Given the description of an element on the screen output the (x, y) to click on. 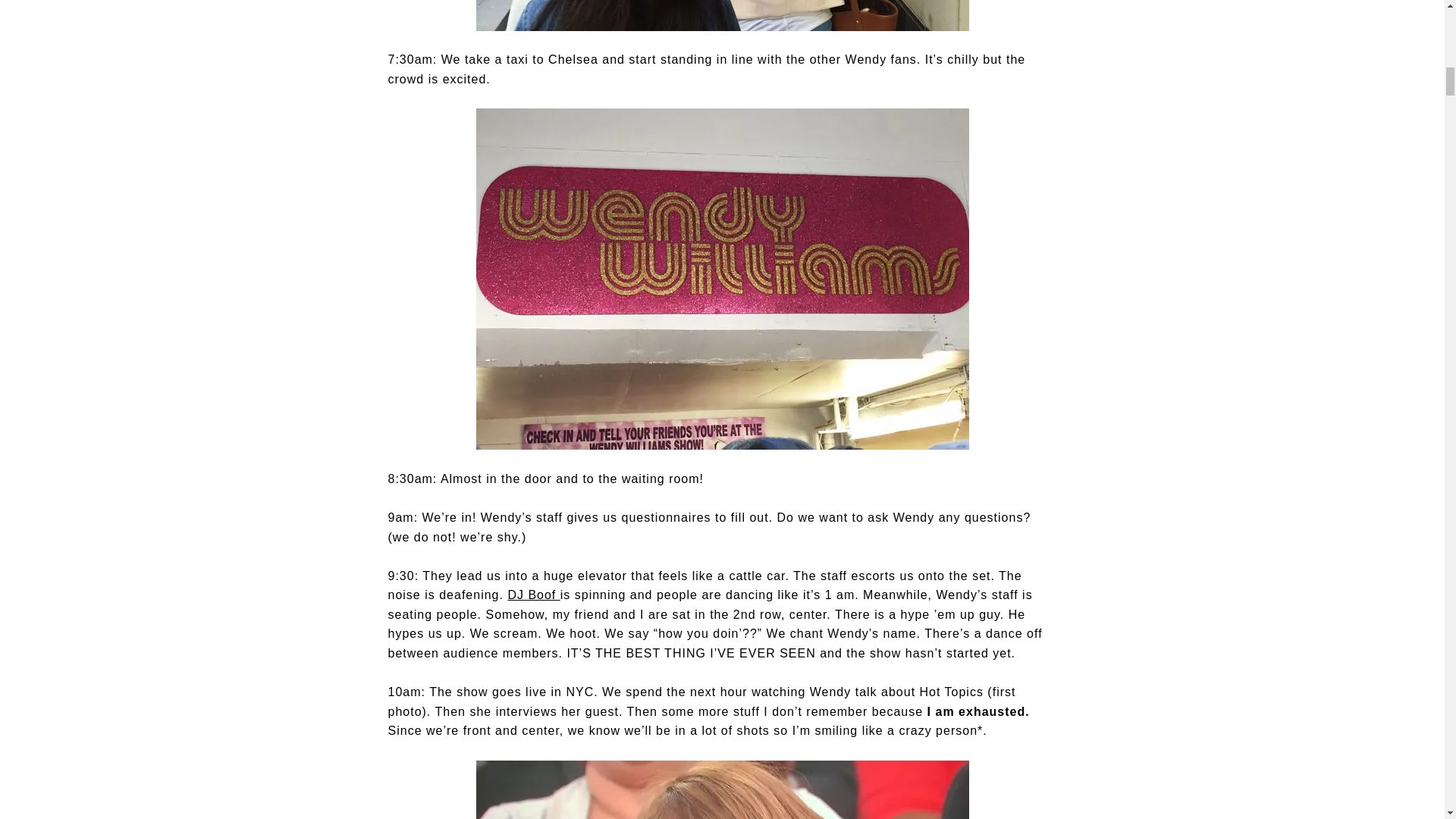
DJ Boof  (532, 594)
